Given the description of an element on the screen output the (x, y) to click on. 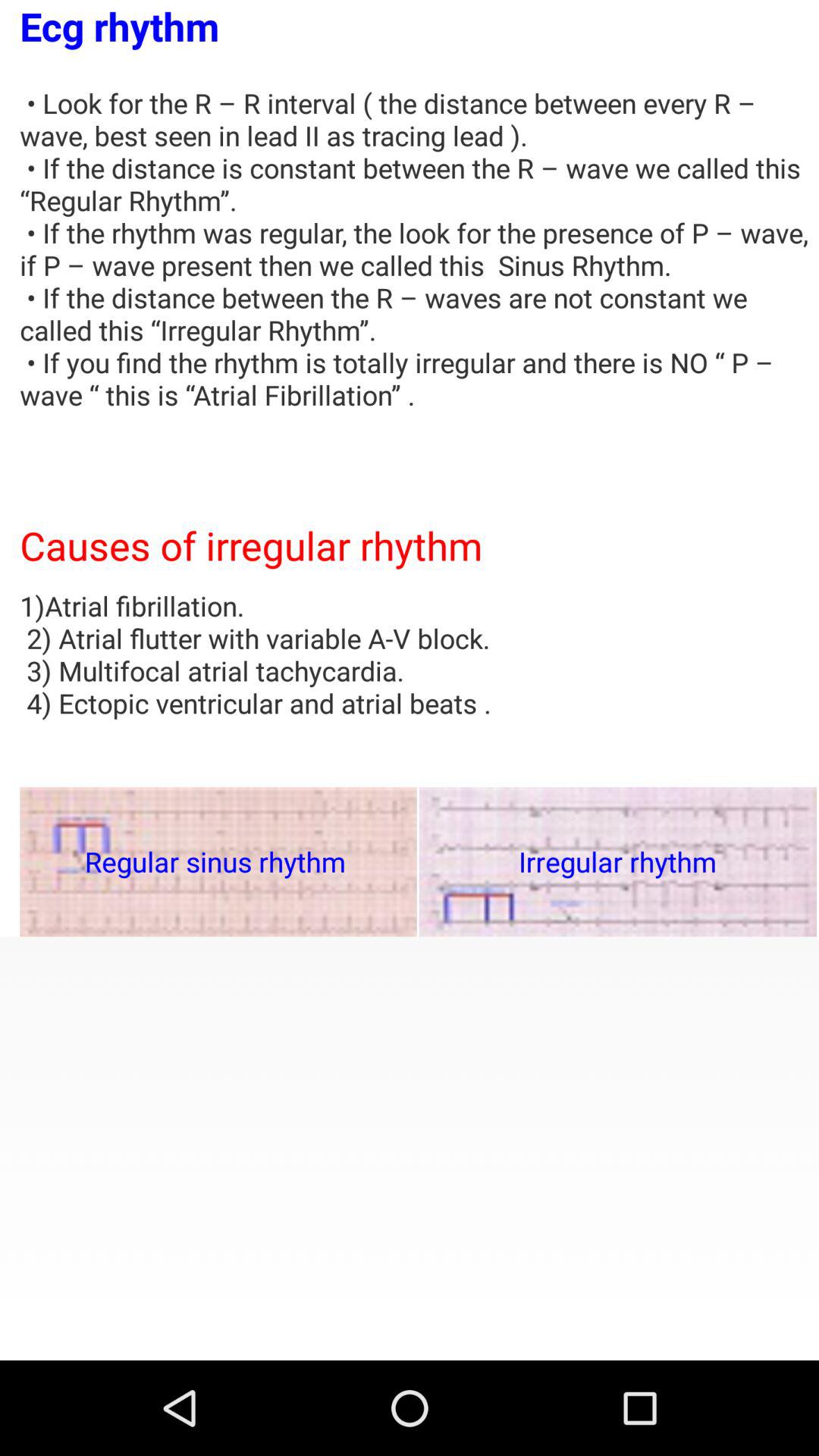
tap the item below 1 atrial fibrillation (217, 861)
